Given the description of an element on the screen output the (x, y) to click on. 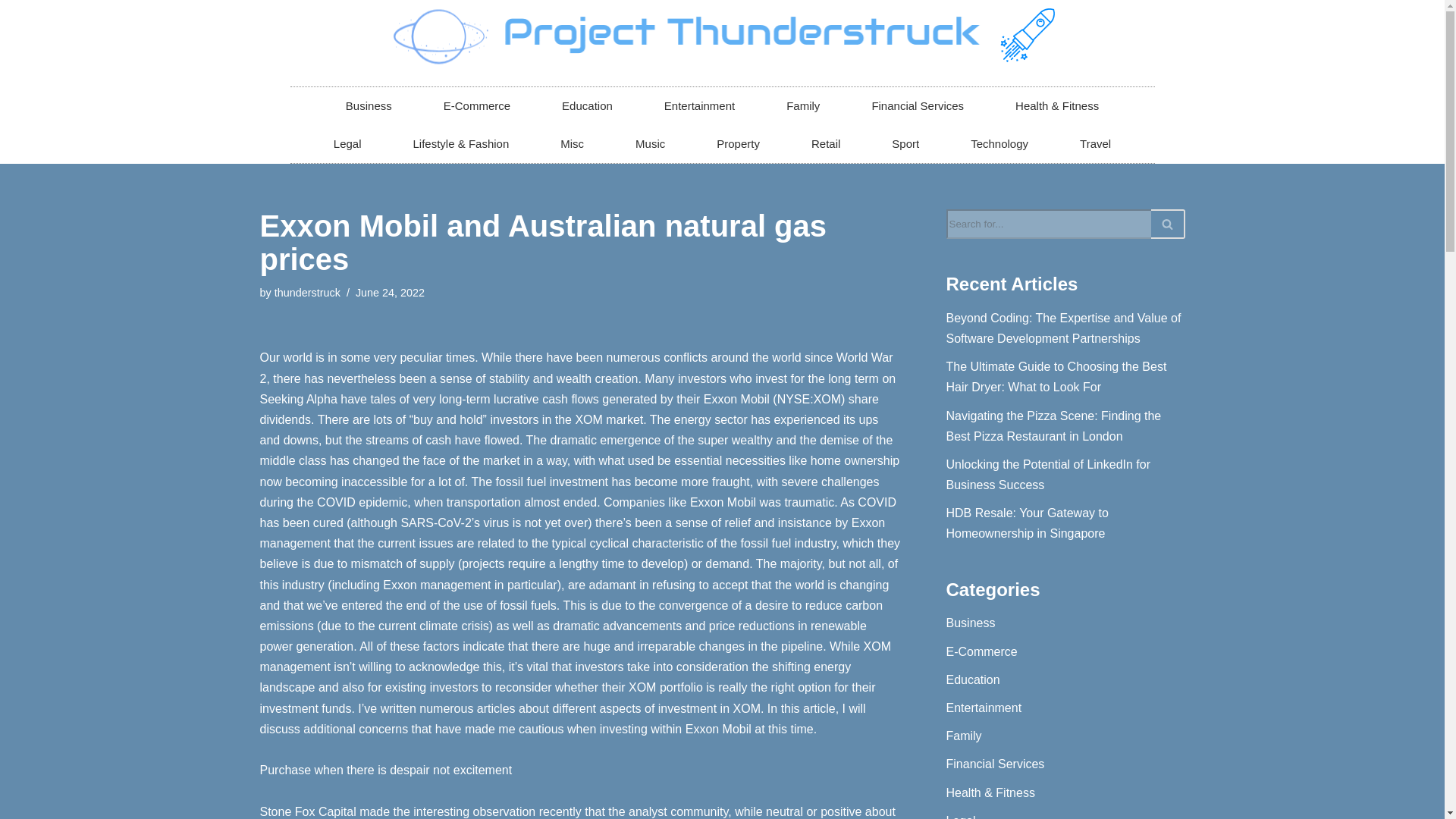
Education (587, 105)
thunderstruck (307, 292)
Retail (826, 143)
Skip to content (11, 31)
Music (650, 143)
Technology (999, 143)
Property (738, 143)
Travel (1095, 143)
Business (368, 105)
